Given the description of an element on the screen output the (x, y) to click on. 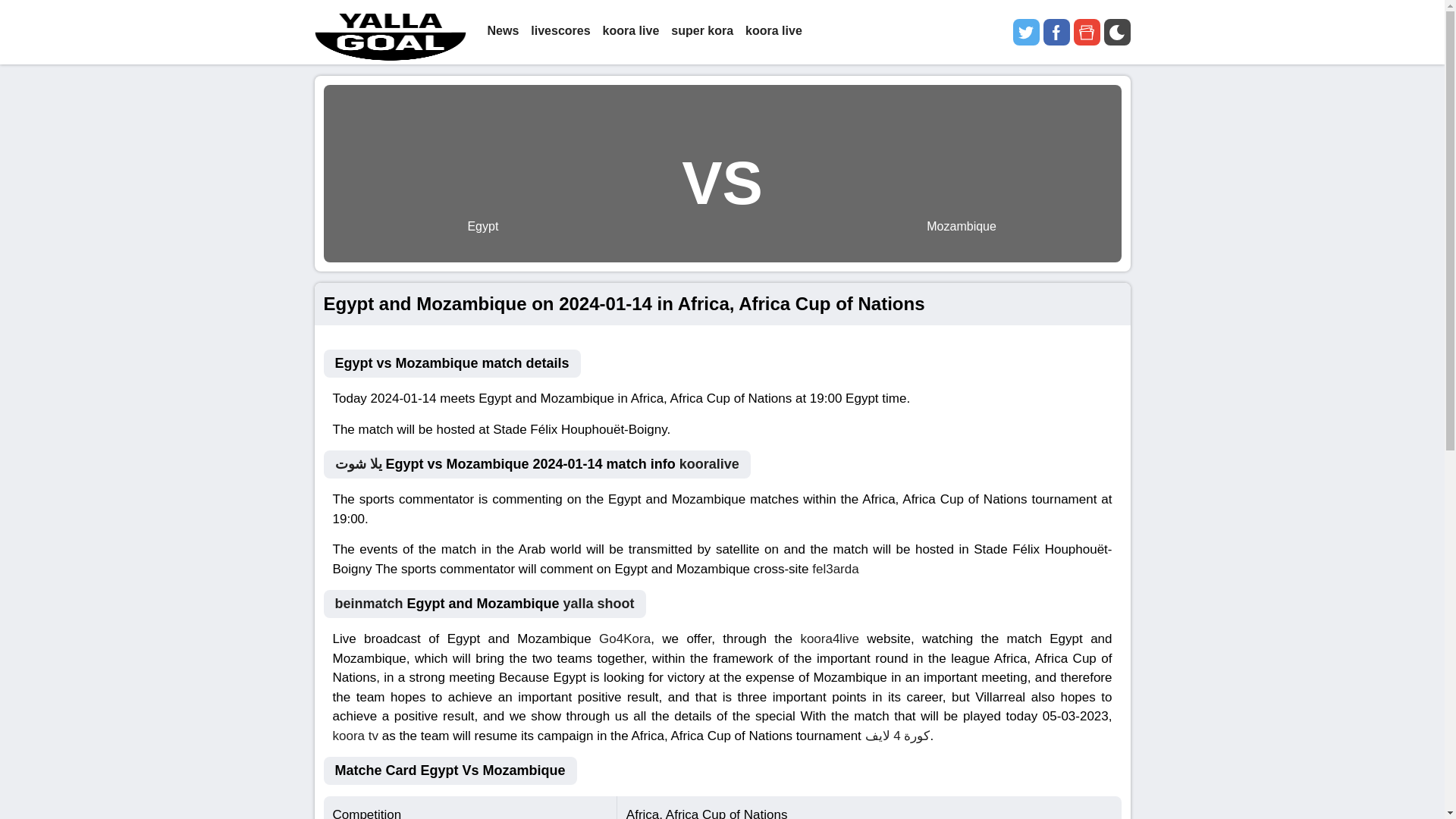
koora4live (829, 638)
yalla shoot (598, 603)
koora live (773, 31)
livescores (559, 31)
super kora (702, 31)
beinmatch (368, 603)
koora tv (354, 735)
yalla goal English yalla shoot Free Live Sports Stream (389, 32)
fel3arda (835, 568)
koora live (630, 31)
